Given the description of an element on the screen output the (x, y) to click on. 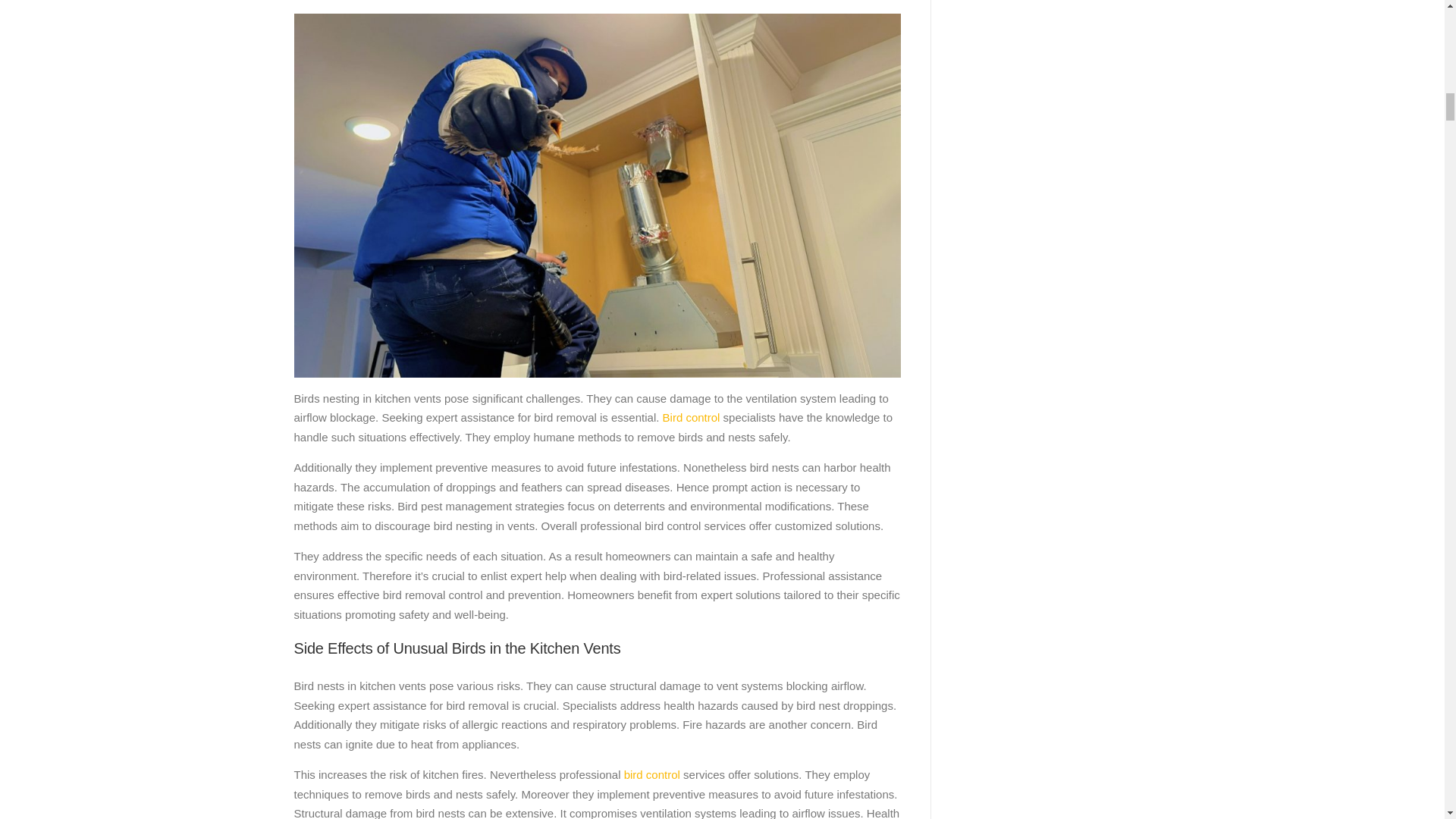
bird control (650, 774)
Bird control (689, 417)
